Given the description of an element on the screen output the (x, y) to click on. 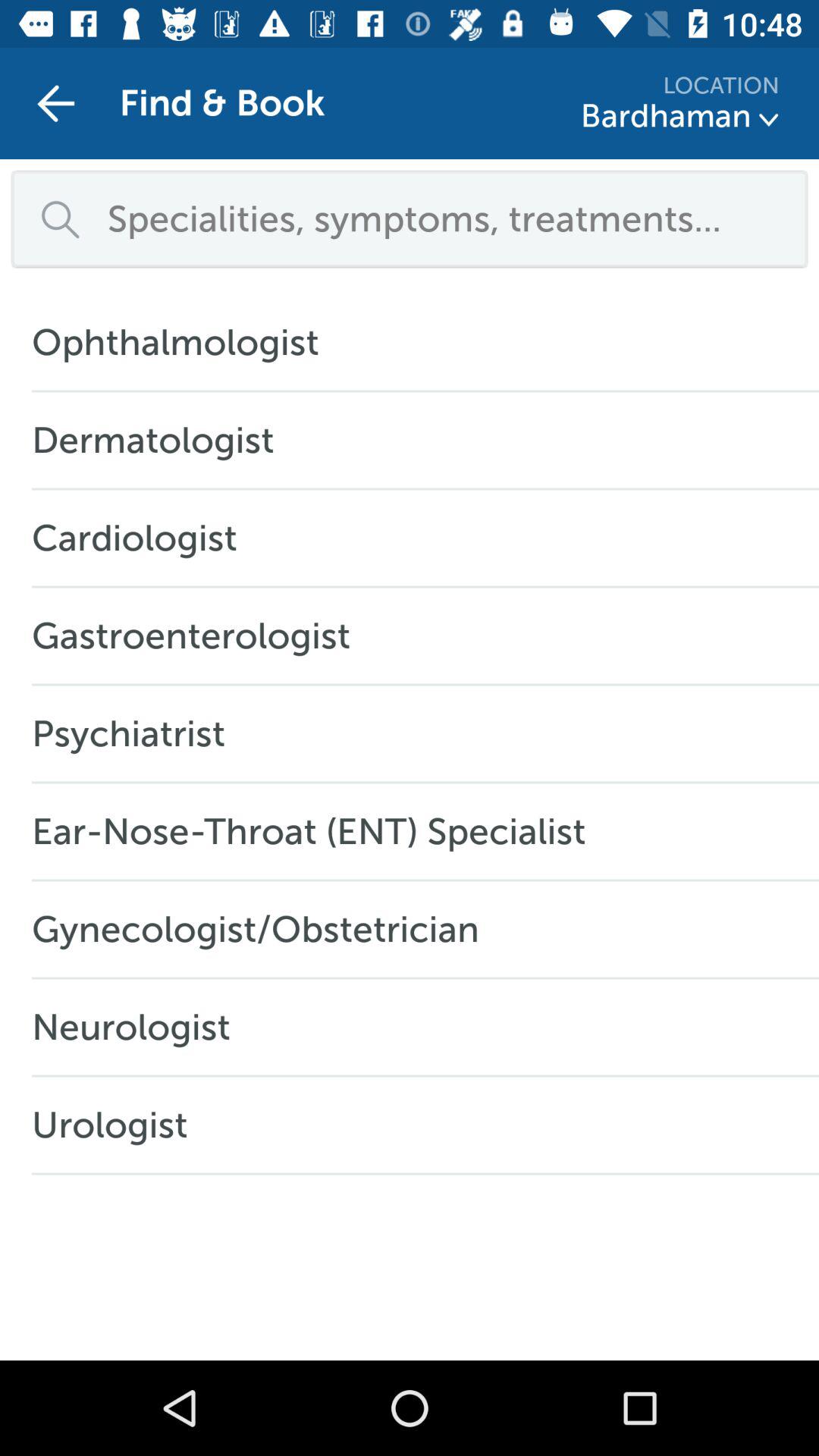
etc (769, 119)
